Given the description of an element on the screen output the (x, y) to click on. 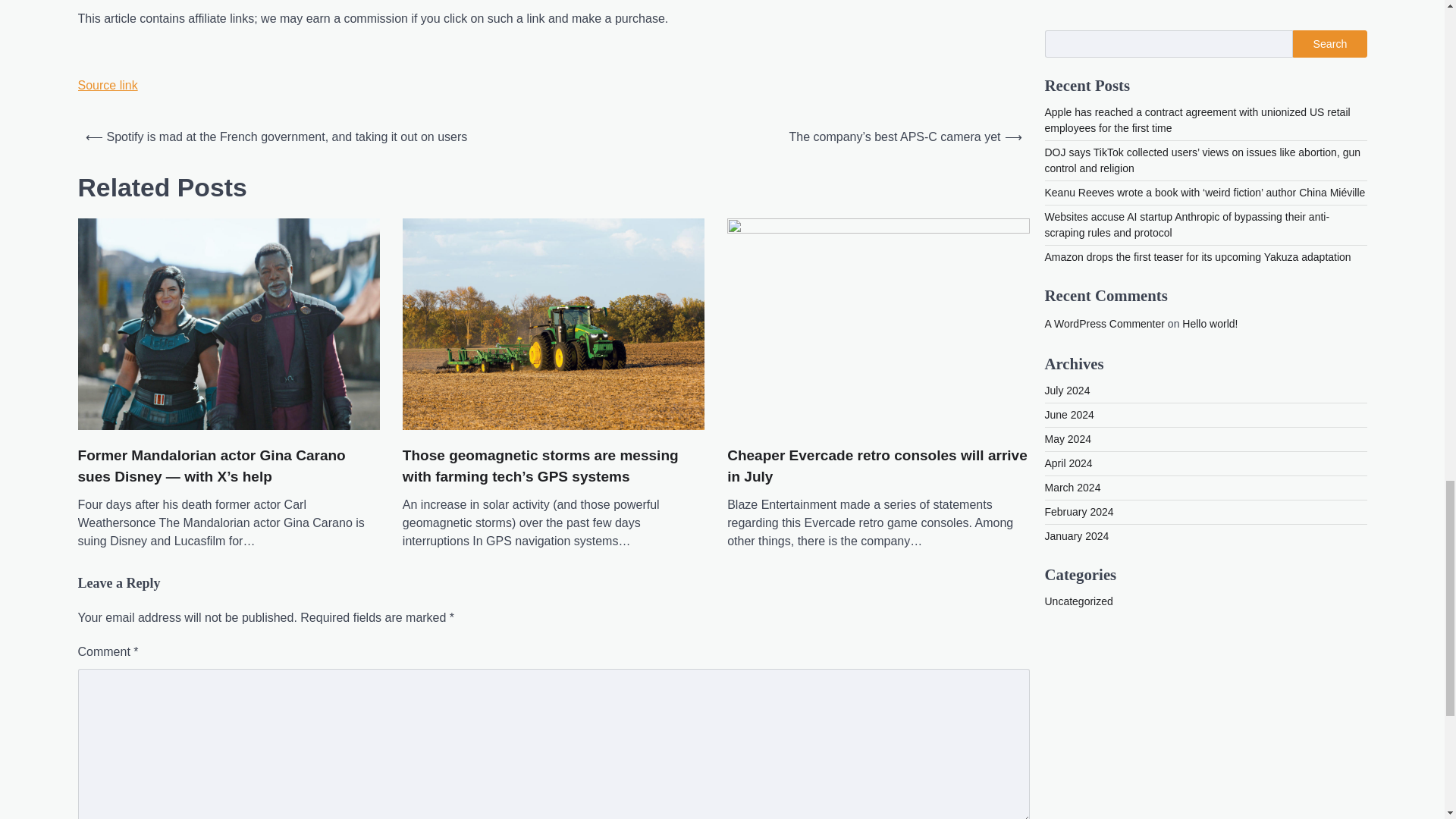
Source link (106, 84)
Cheaper Evercade retro consoles will arrive in July (877, 466)
